Given the description of an element on the screen output the (x, y) to click on. 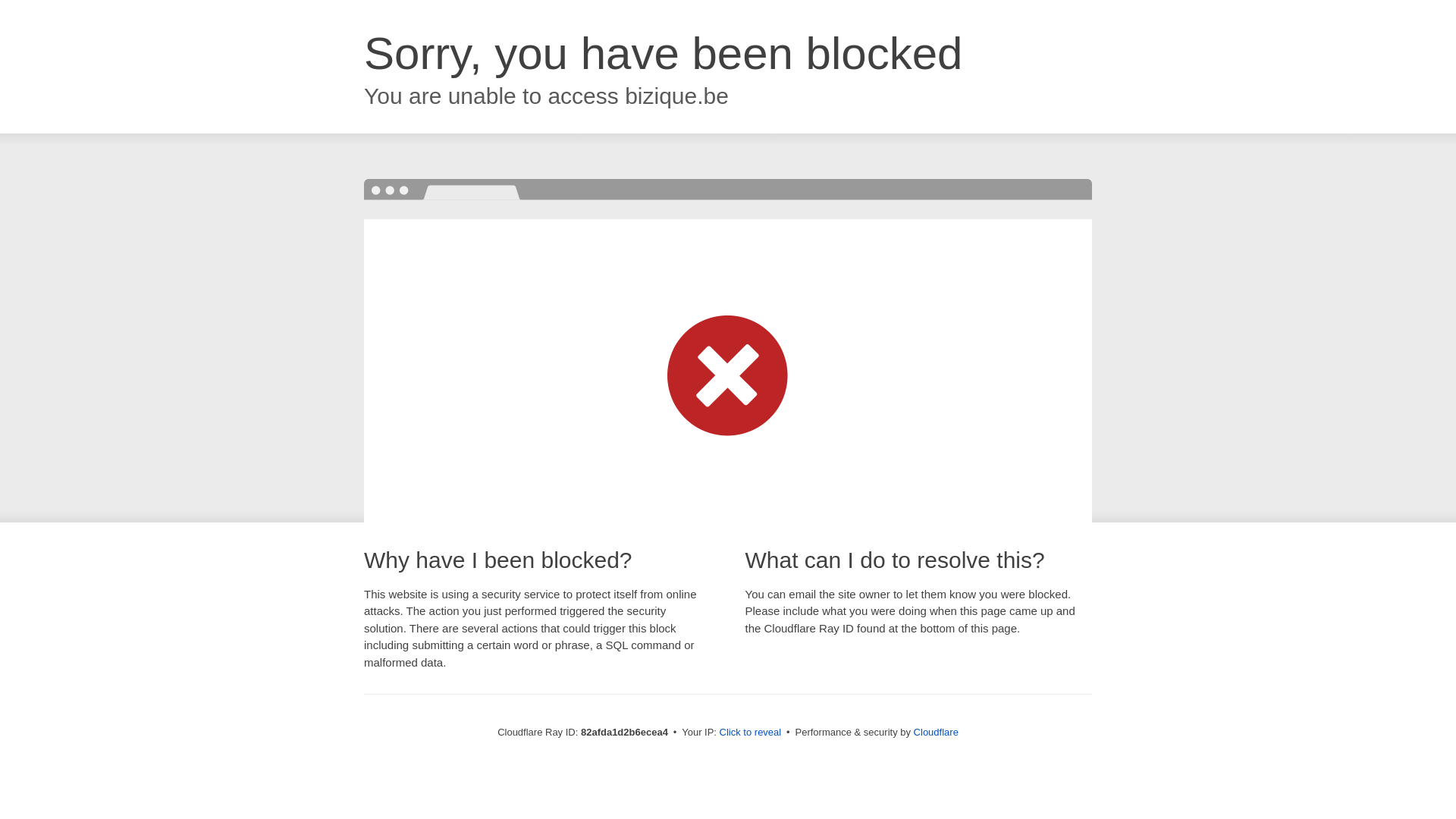
Cloudflare Element type: text (935, 731)
Click to reveal Element type: text (750, 732)
